Given the description of an element on the screen output the (x, y) to click on. 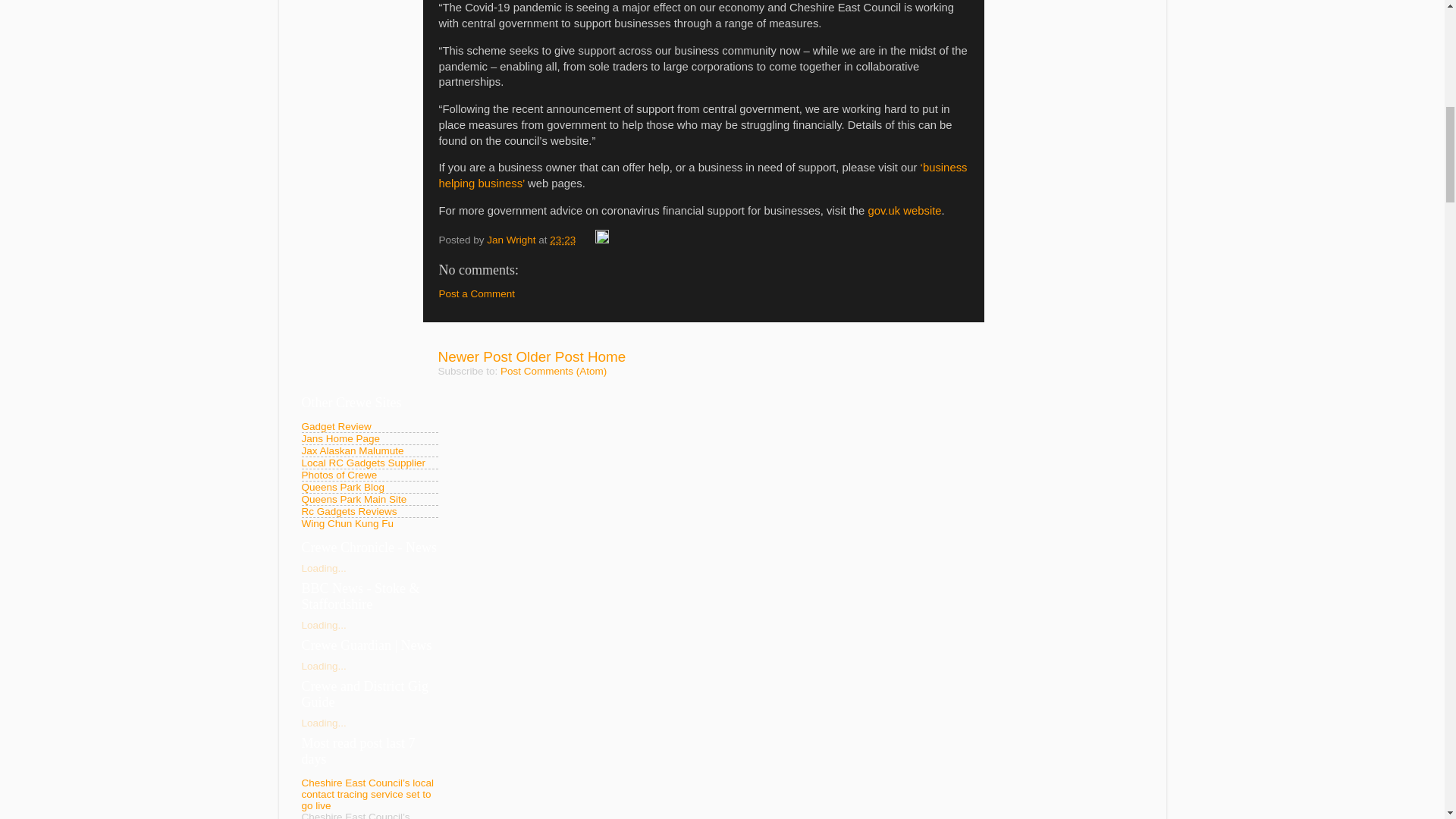
Loading... (323, 568)
Wing Chun Kung Fu (347, 523)
Post a Comment (476, 293)
Jax Alaskan Malumute (352, 450)
Loading... (323, 624)
author profile (512, 239)
Newer Post (475, 356)
Newer Post (475, 356)
Photos of Crewe (339, 474)
Queens Park Main Site (354, 499)
Jans Home Page (340, 438)
Edit Post (601, 239)
Local RC Gadgets Supplier (363, 462)
Email Post (586, 239)
Rc Gadgets Reviews (349, 511)
